Given the description of an element on the screen output the (x, y) to click on. 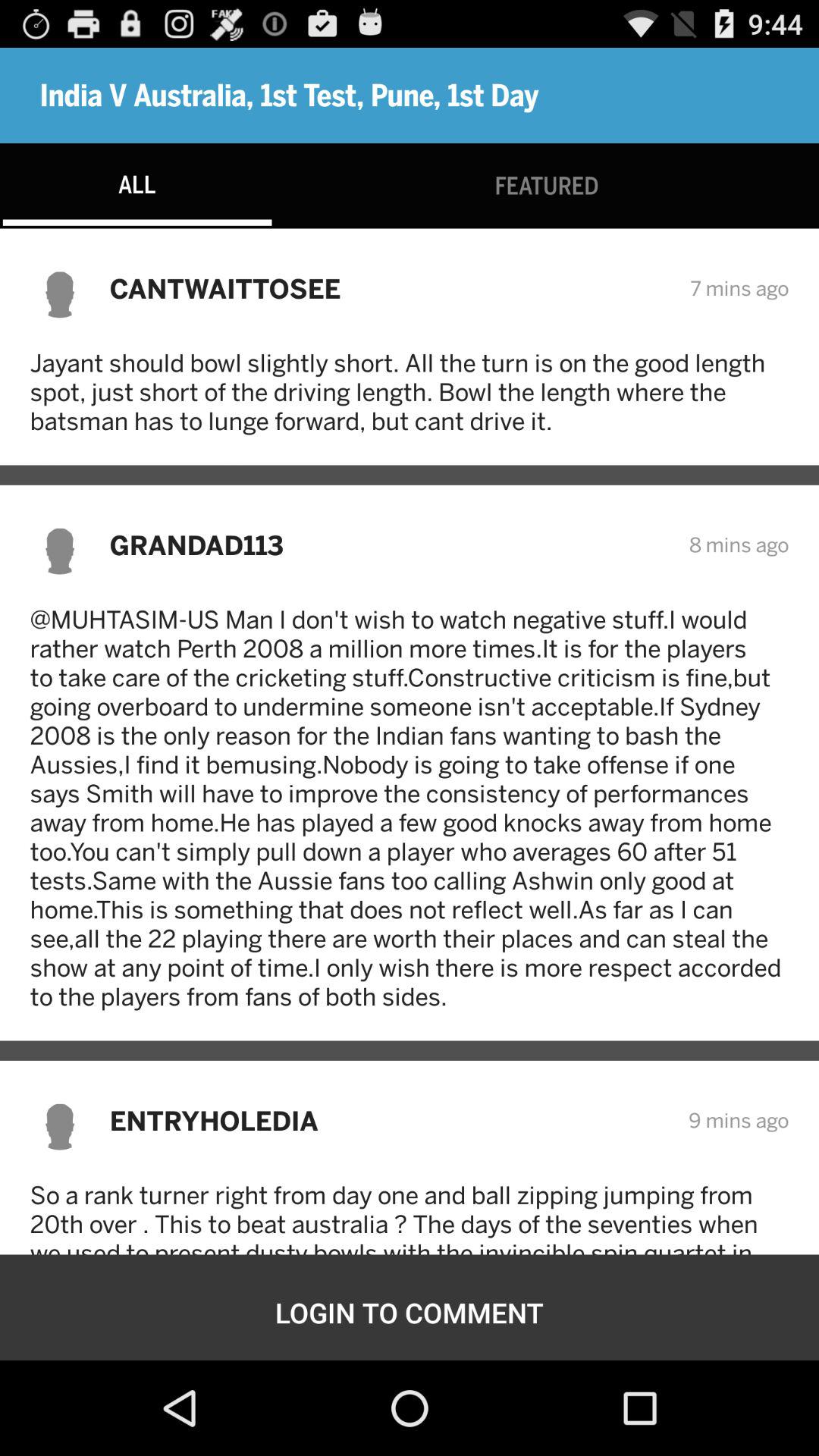
open the grandad113 icon (389, 544)
